Given the description of an element on the screen output the (x, y) to click on. 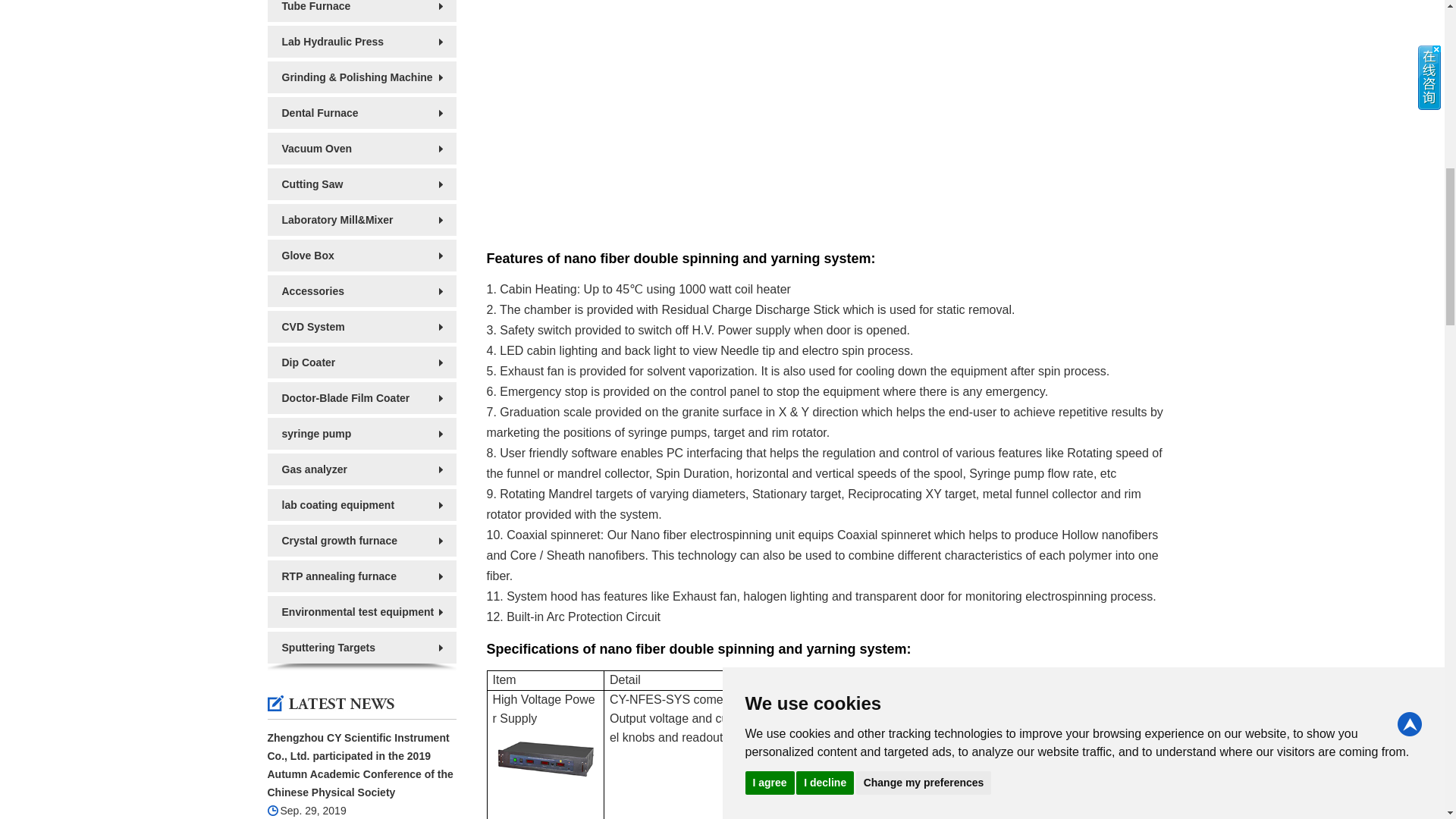
image.png (545, 756)
